Given the description of an element on the screen output the (x, y) to click on. 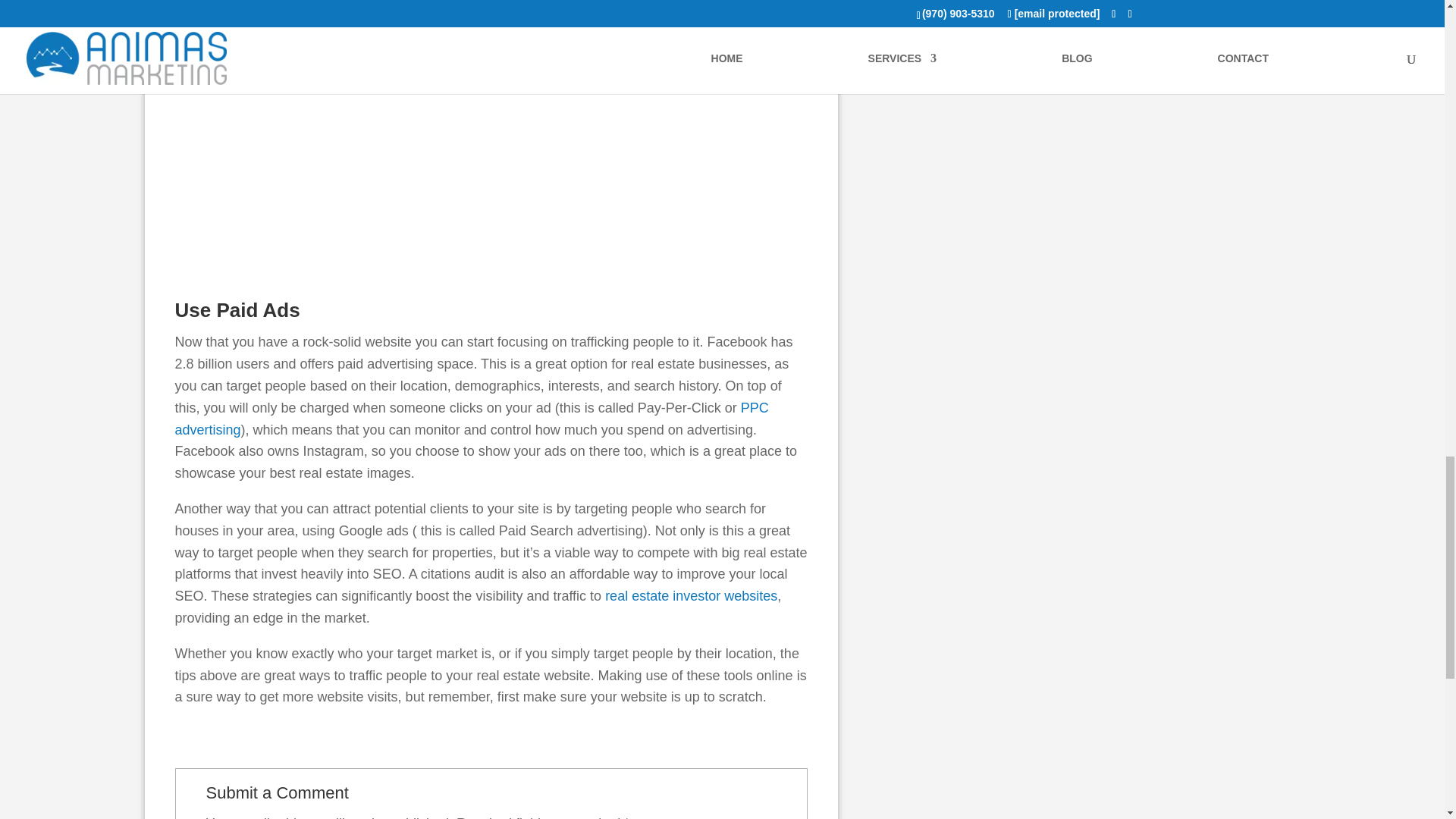
real estate investor websites (691, 595)
PPC advertising (471, 418)
